Given the description of an element on the screen output the (x, y) to click on. 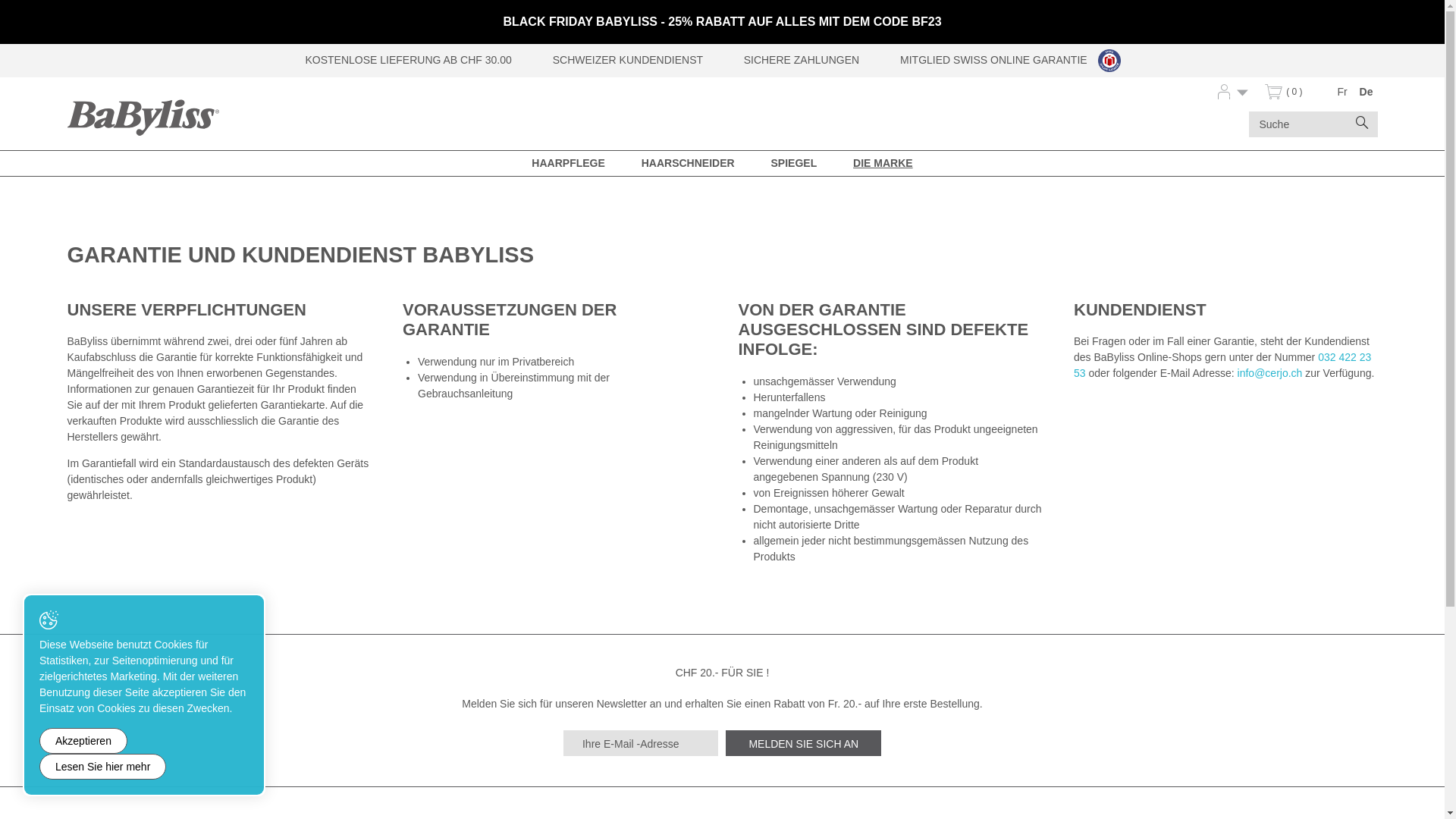
Akzeptieren Element type: text (83, 740)
HAARPFLEGE Element type: text (567, 162)
032 422 23 53 Element type: text (1222, 365)
HAARSCHNEIDER Element type: text (687, 162)
Fr Element type: text (1341, 92)
Suchen Element type: text (1361, 123)
Lesen Sie hier mehr Element type: text (102, 766)
DIE MARKE Element type: text (882, 162)
info@cerjo.ch Element type: text (1269, 373)
De Element type: text (1366, 92)
( 0 ) Element type: text (1287, 96)
MELDEN SIE SICH AN Element type: text (803, 743)
SPIEGEL Element type: text (793, 162)
